Given the description of an element on the screen output the (x, y) to click on. 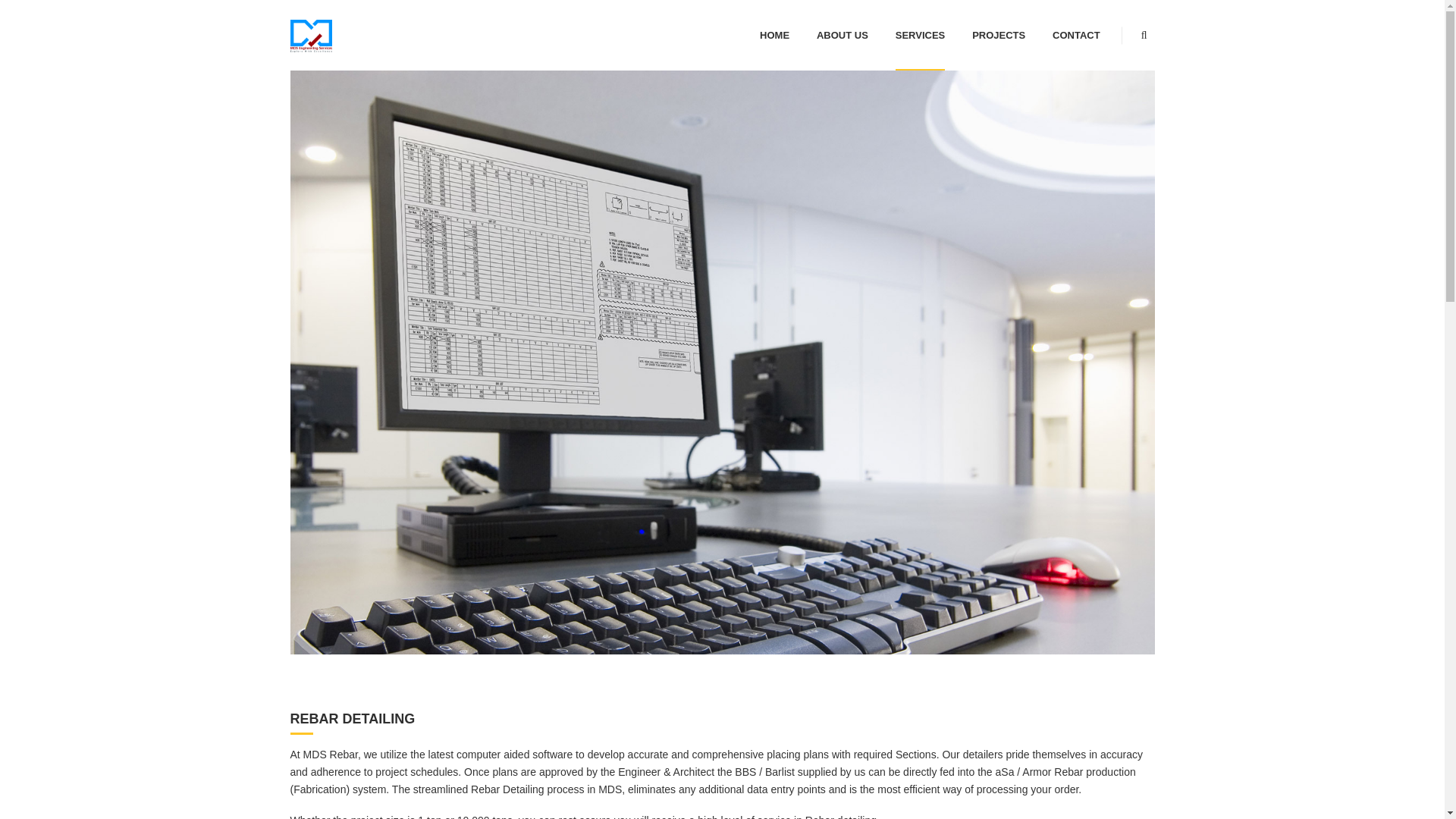
Search (1126, 97)
